Given the description of an element on the screen output the (x, y) to click on. 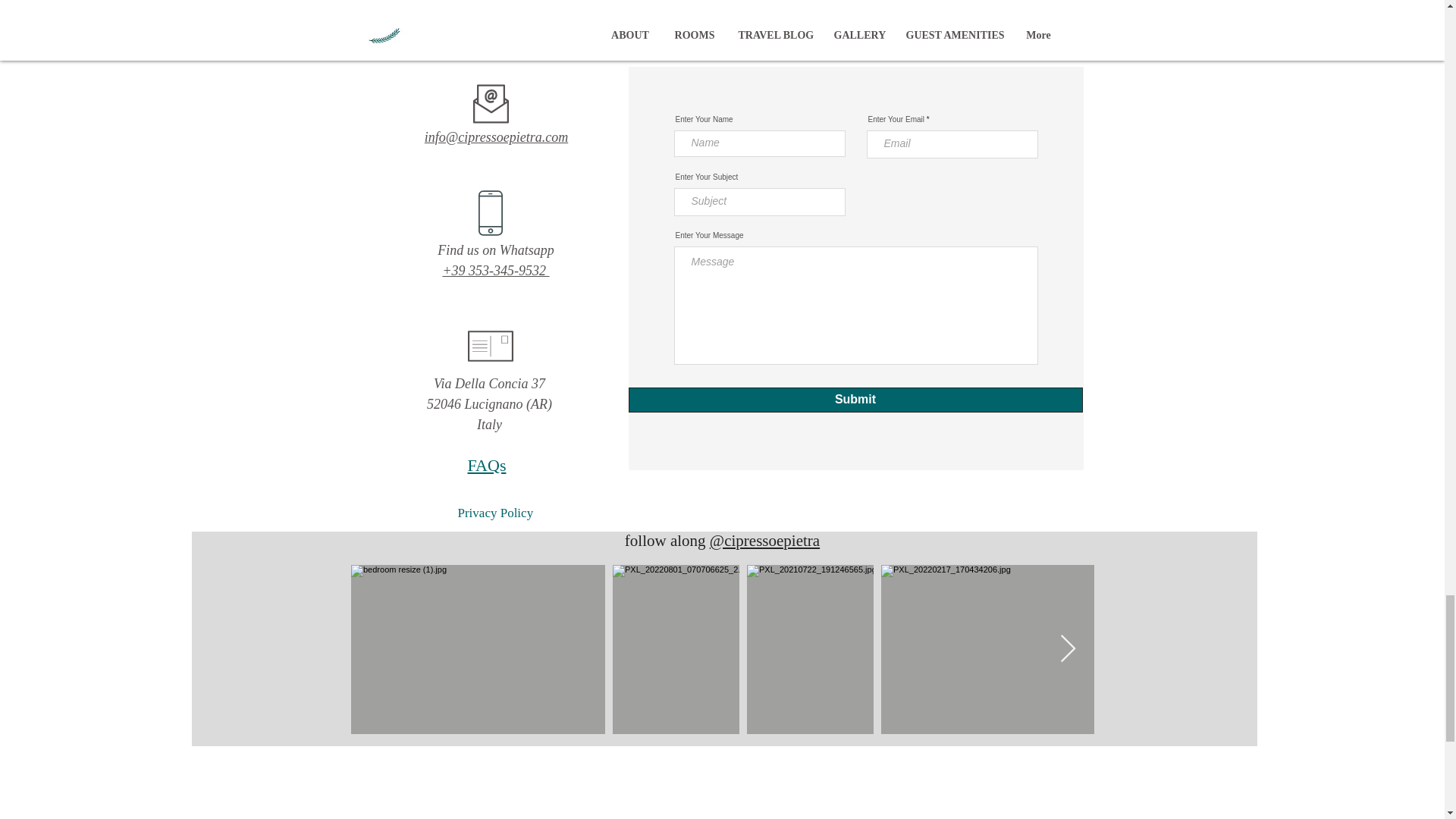
Submit (854, 399)
FAQs (486, 465)
Privacy Policy (496, 513)
